Given the description of an element on the screen output the (x, y) to click on. 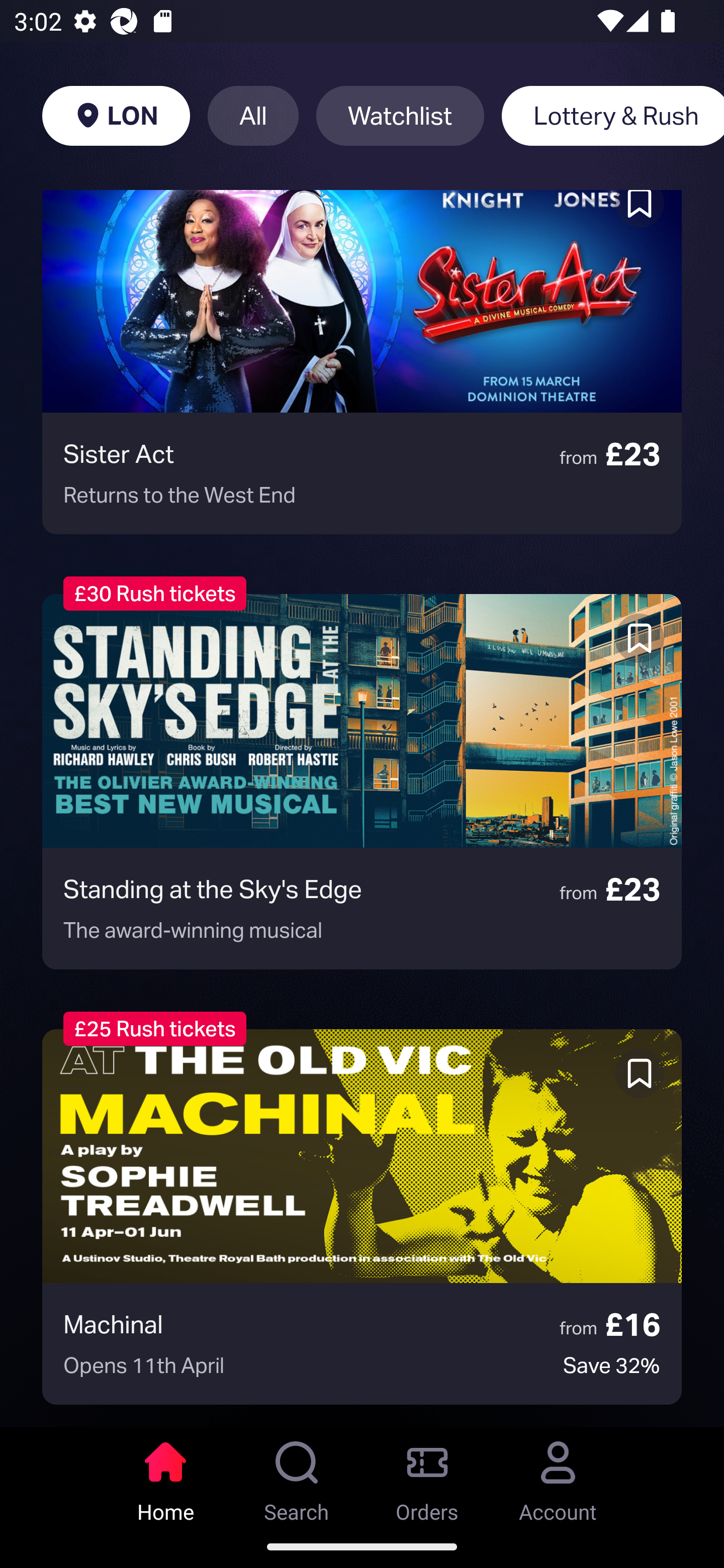
LON (115, 115)
All (252, 115)
Watchlist (400, 115)
Lottery & Rush (612, 115)
Sister Act from £23 Returns to the West End (361, 361)
Machinal from £16 Opens 11th April Save 32% (361, 1216)
Search (296, 1475)
Orders (427, 1475)
Account (558, 1475)
